Given the description of an element on the screen output the (x, y) to click on. 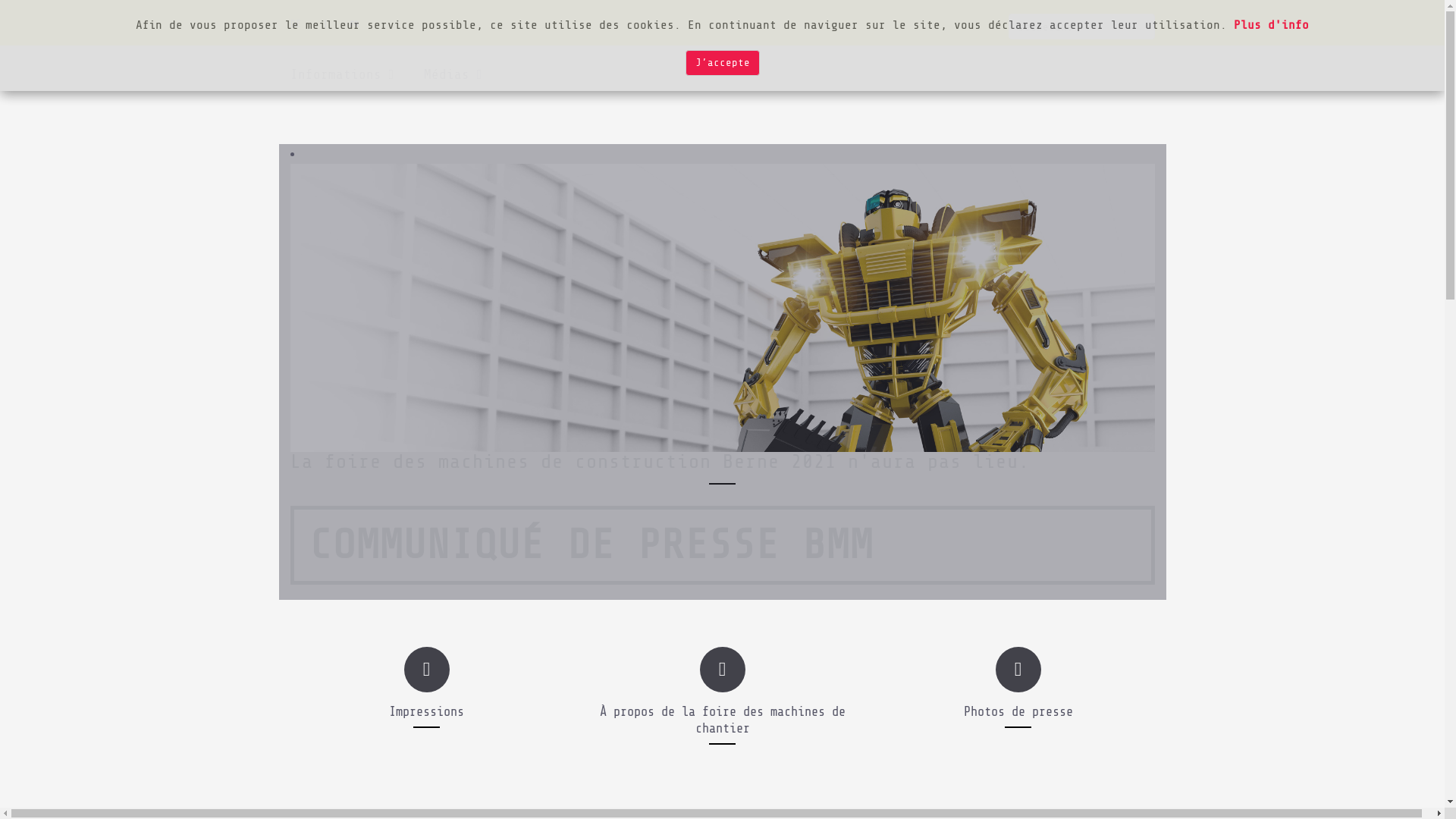
Plus d'info Element type: text (1270, 24)
Impressions Element type: text (426, 711)
  Element type: text (530, 74)
DE Element type: text (294, 23)
Informations Element type: text (356, 74)
Photos de presse Element type: text (1017, 711)
